Given the description of an element on the screen output the (x, y) to click on. 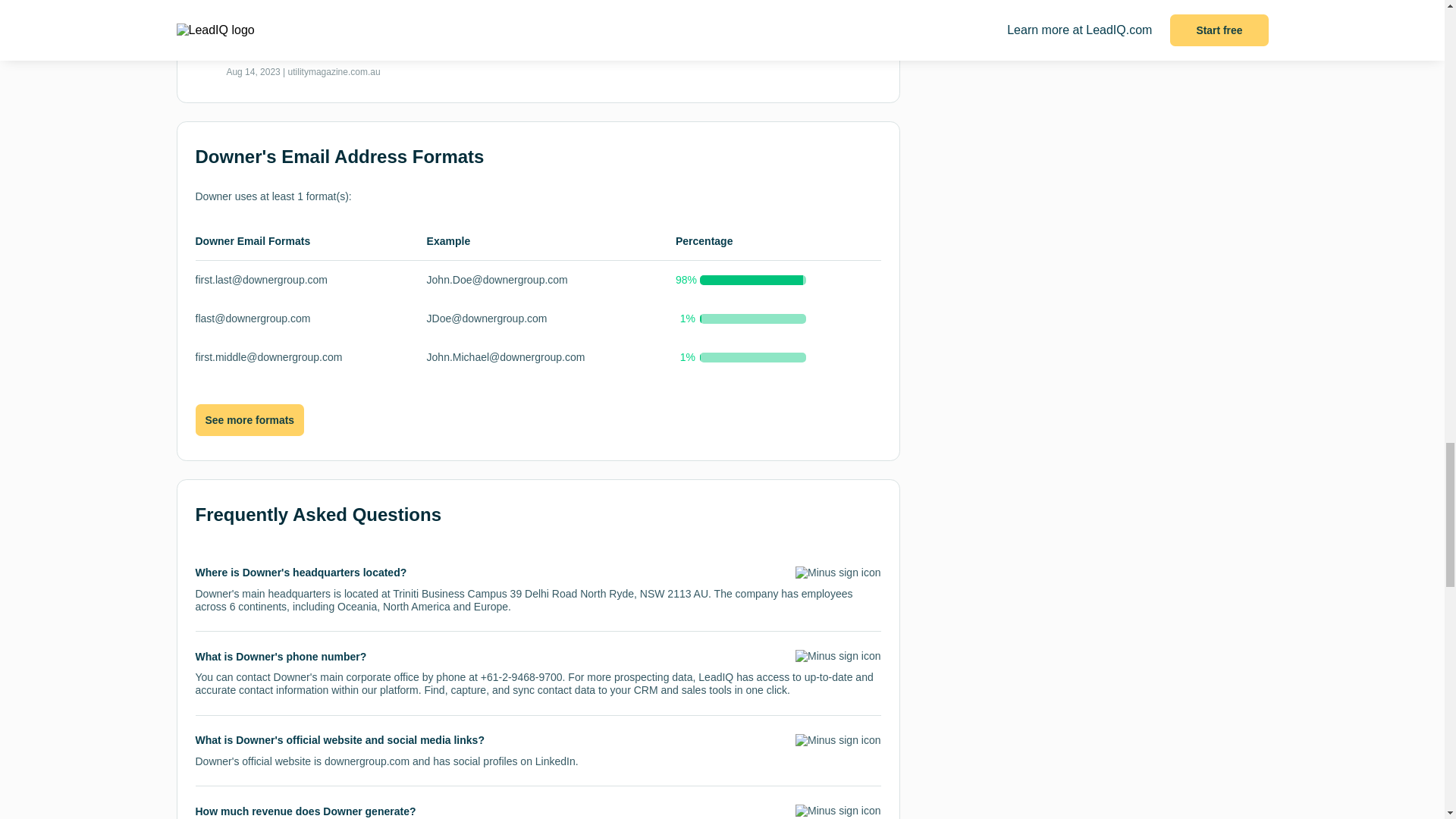
downergroup.com (366, 761)
See more formats (249, 419)
LinkedIn (555, 761)
See more formats (249, 420)
